Given the description of an element on the screen output the (x, y) to click on. 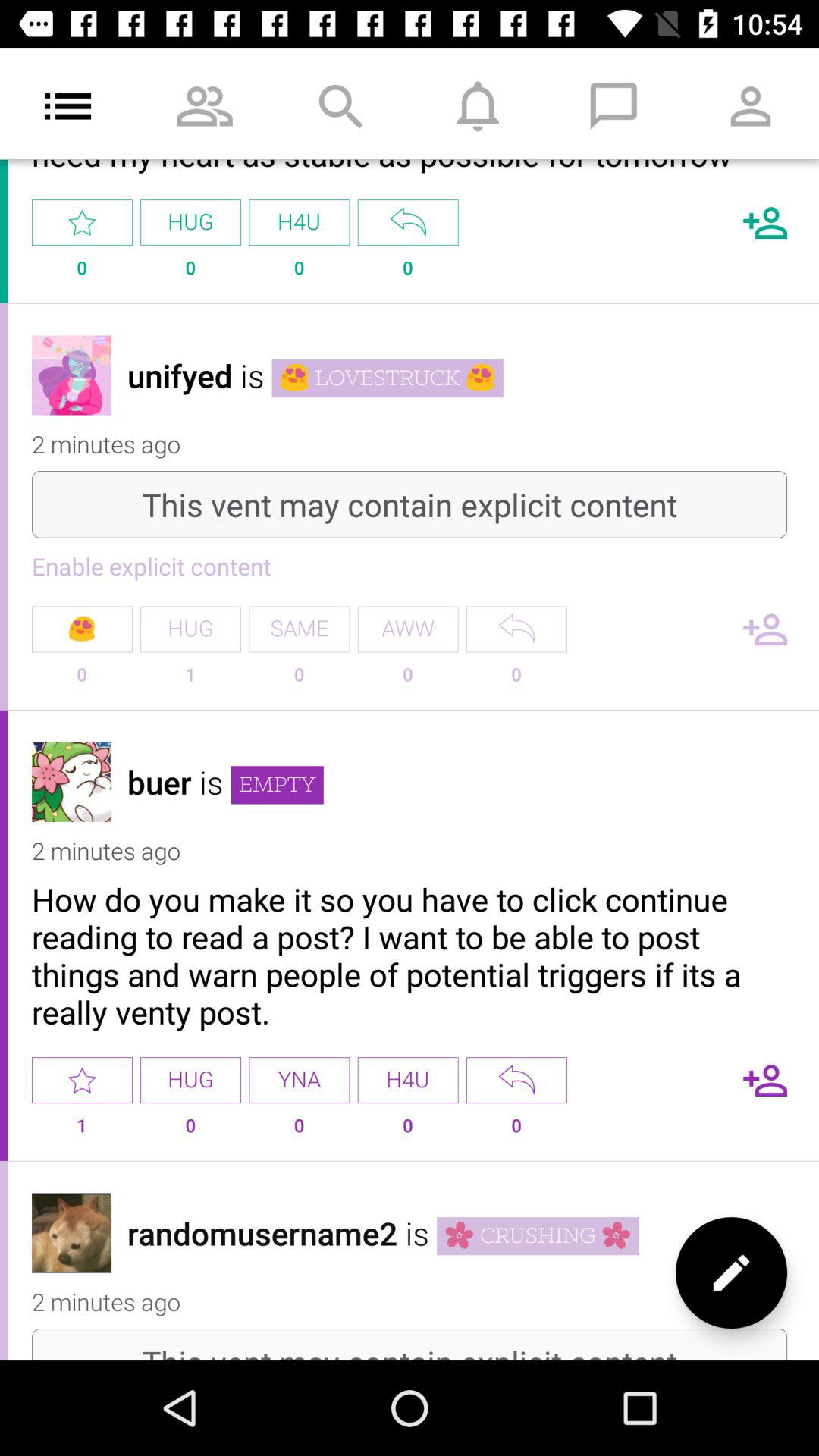
launch the app above 0 icon (516, 629)
